Given the description of an element on the screen output the (x, y) to click on. 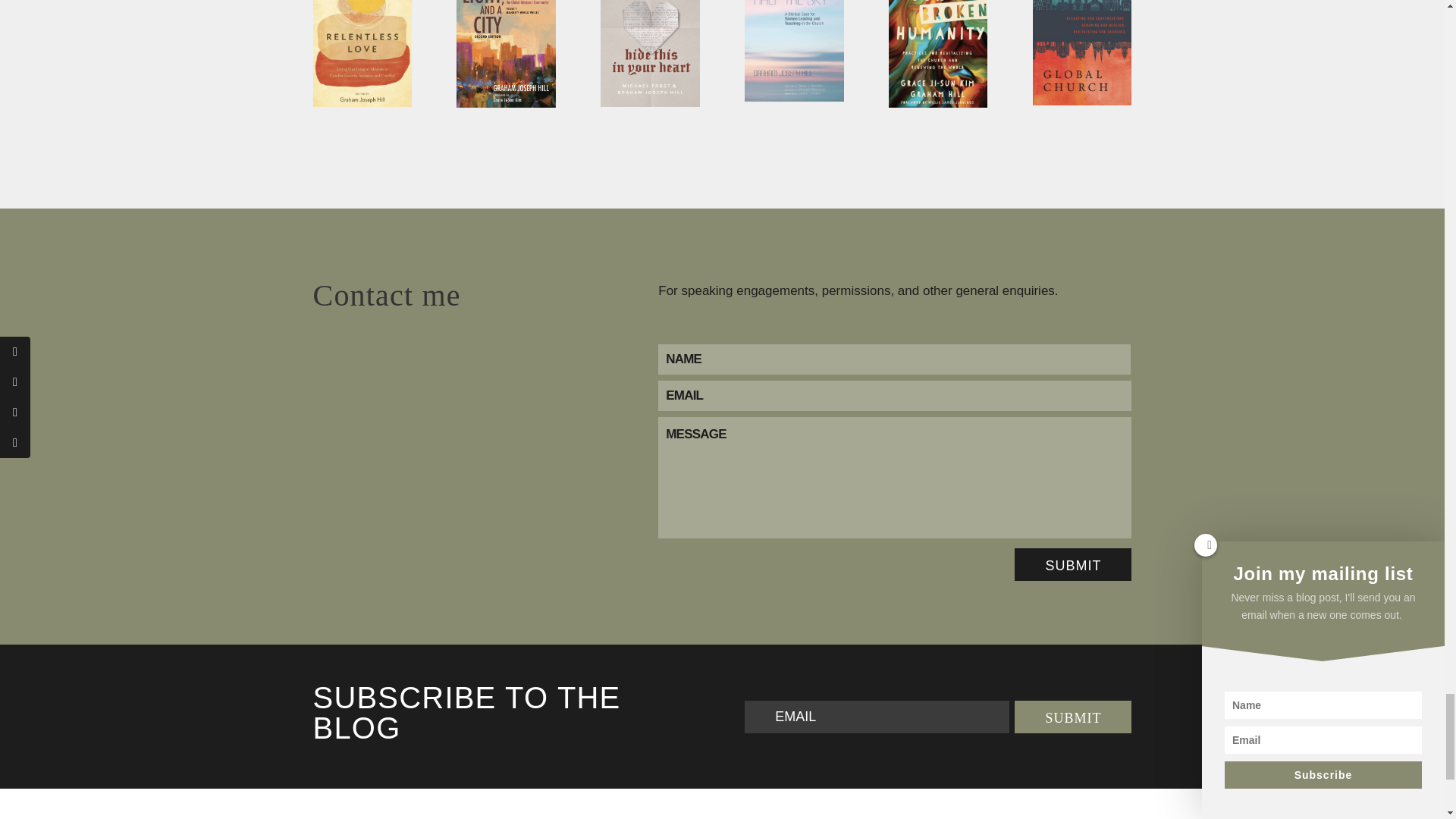
Submit (1072, 563)
Screen-Shot-2020-05-10-at-8.46.19-pm (648, 53)
Screen-Shot-2020-11-22-at-5.54.20-pm (361, 53)
salt-light-and-a-city (505, 54)
Submit (1072, 717)
